Given the description of an element on the screen output the (x, y) to click on. 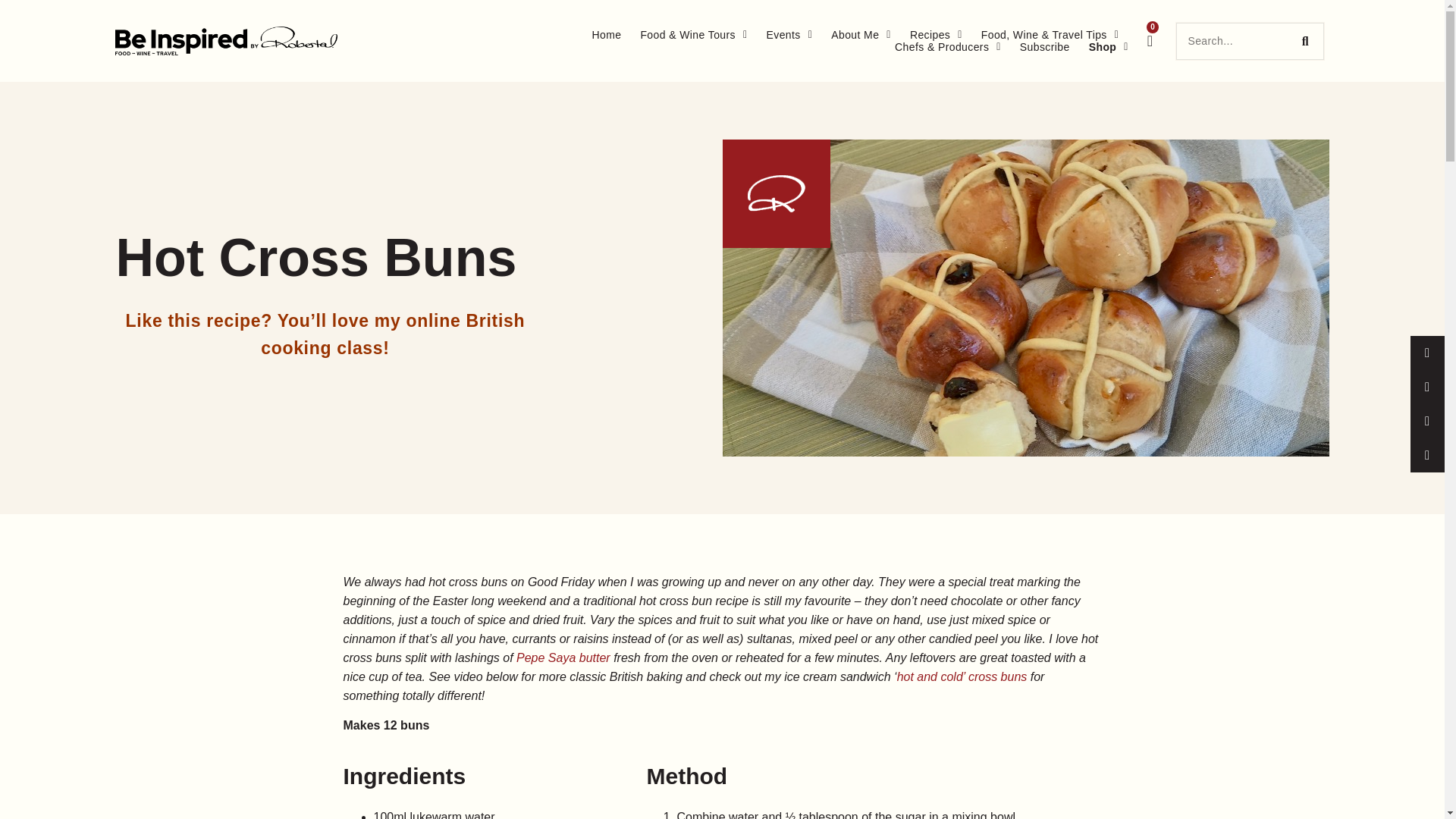
Subscribe (1045, 46)
Home (606, 34)
Recipes (936, 34)
About Me (861, 34)
Shop (1108, 46)
Events (789, 34)
